Given the description of an element on the screen output the (x, y) to click on. 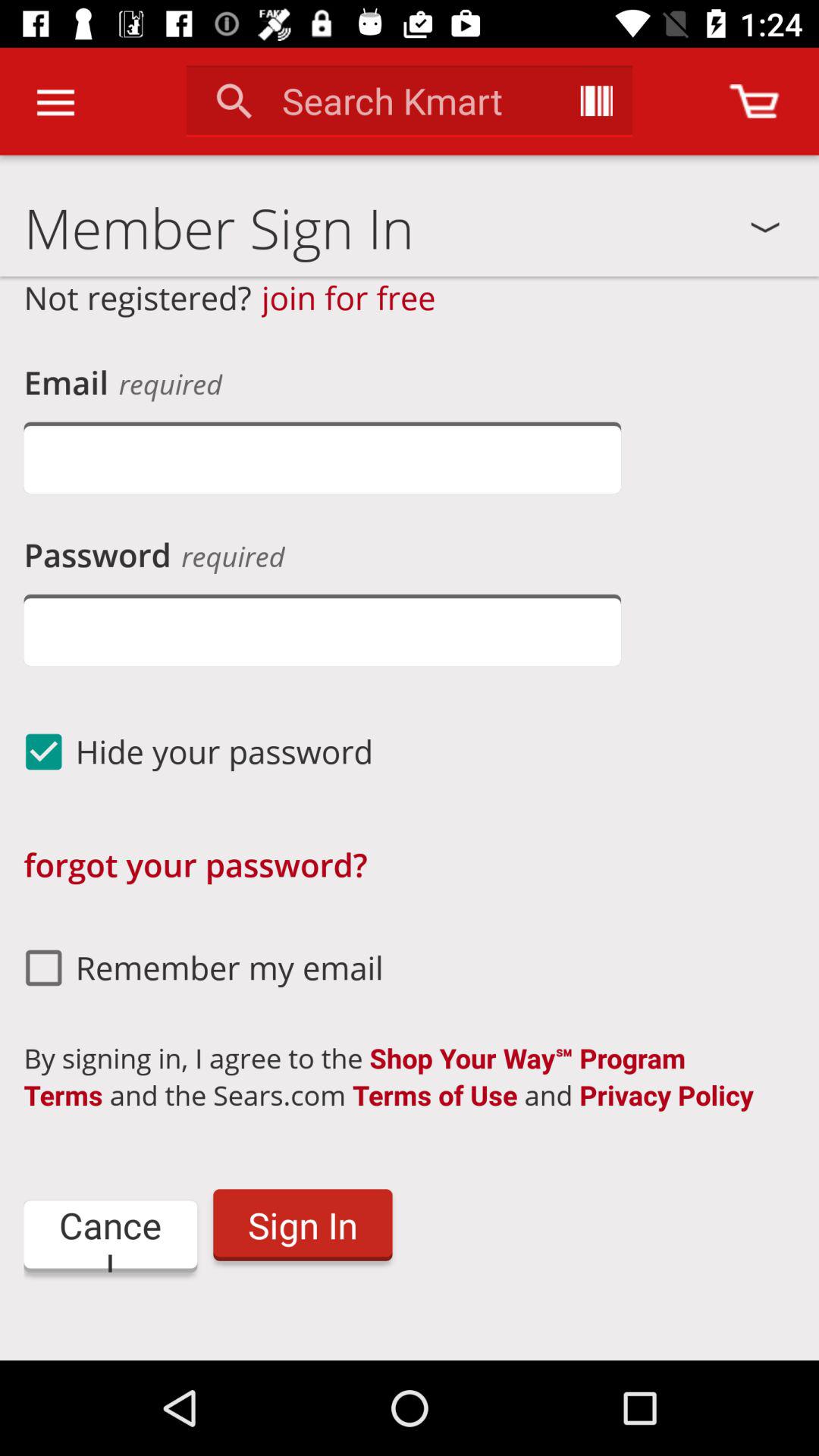
barcode scanner (596, 100)
